Given the description of an element on the screen output the (x, y) to click on. 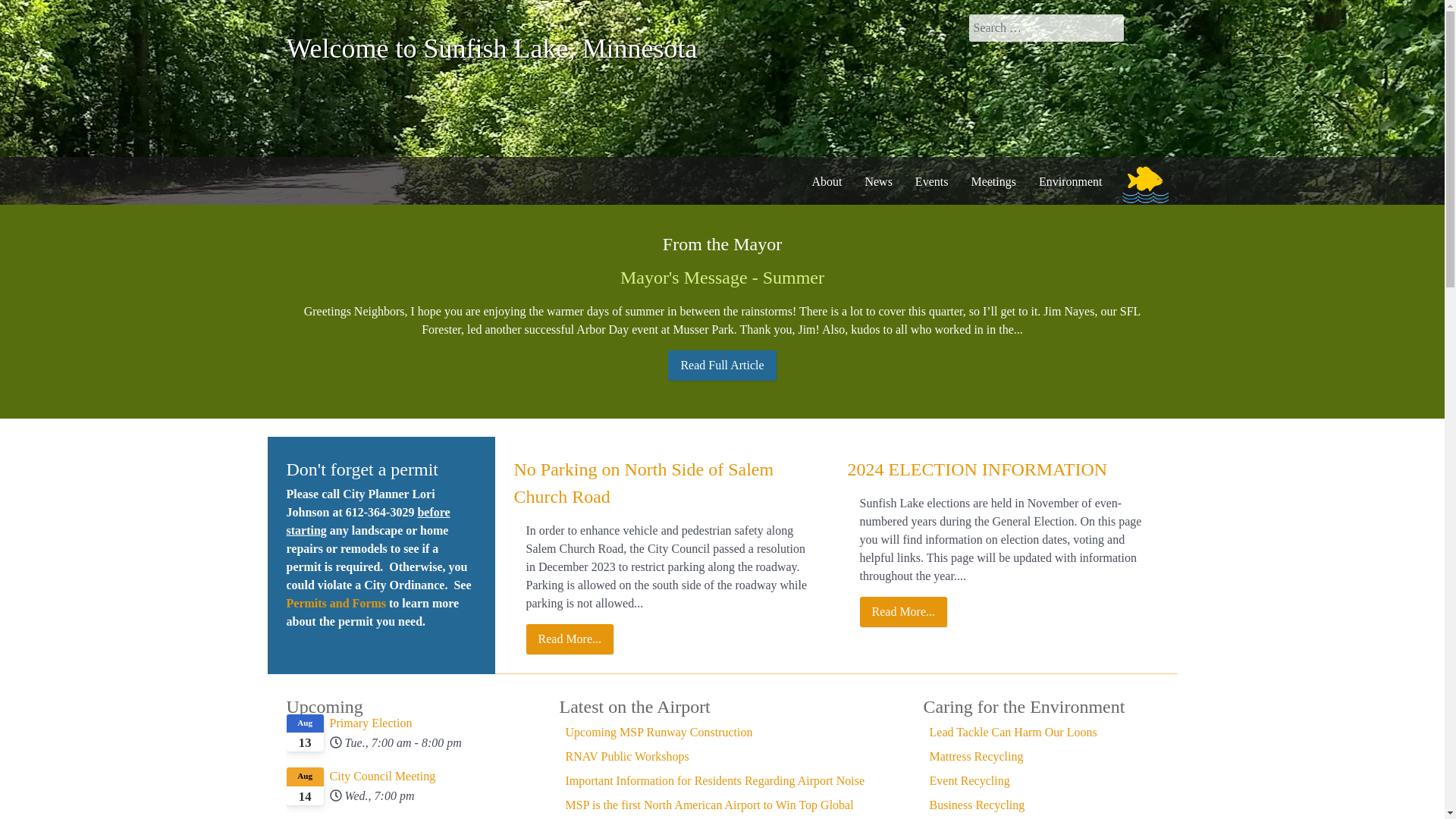
Events (931, 180)
Business Recycling (977, 804)
Read More... (903, 612)
Lead Tackle Can Harm Our Loons (1013, 731)
Important Information for Residents Regarding Airport Noise (715, 780)
Upcoming MSP Runway Construction (659, 731)
City Council Meeting (403, 776)
No Parking on North Side of Salem Church Road (643, 482)
2024 ELECTION INFORMATION (977, 469)
Events (931, 180)
Meetings (993, 180)
Event Recycling (970, 780)
News (877, 180)
Mayor's Message - Summer (722, 277)
RNAV Public Workshops (627, 756)
